Given the description of an element on the screen output the (x, y) to click on. 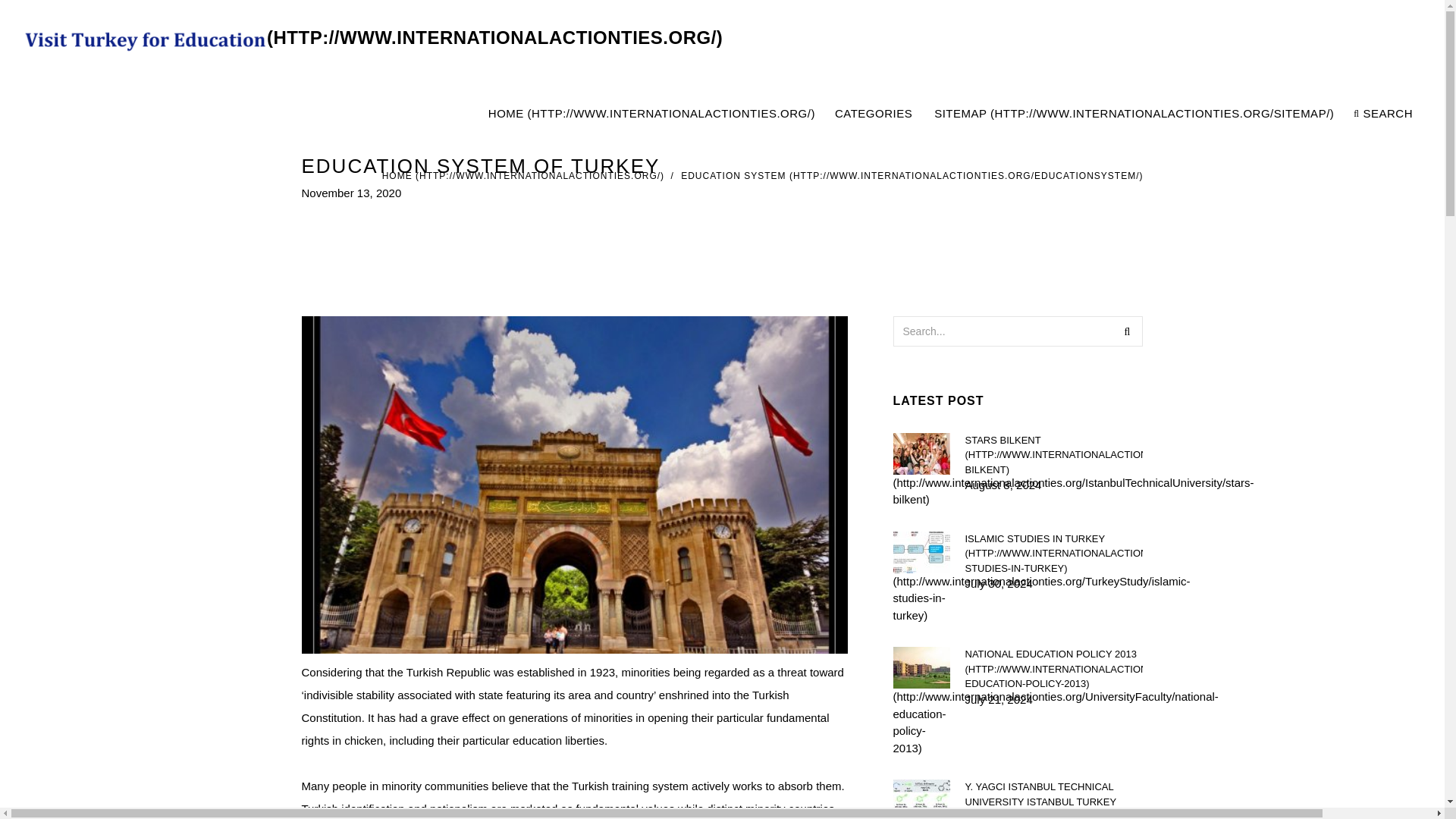
Search (1126, 330)
NATIONAL EDUCATION POLICY 2013 (1052, 669)
STARS BILKENT (1052, 454)
Visit Turkey for Education (372, 38)
SEARCH (1382, 113)
EDUCATION SYSTEM (911, 175)
HOME (522, 175)
HOME (651, 113)
CATEGORIES (874, 113)
